Given the description of an element on the screen output the (x, y) to click on. 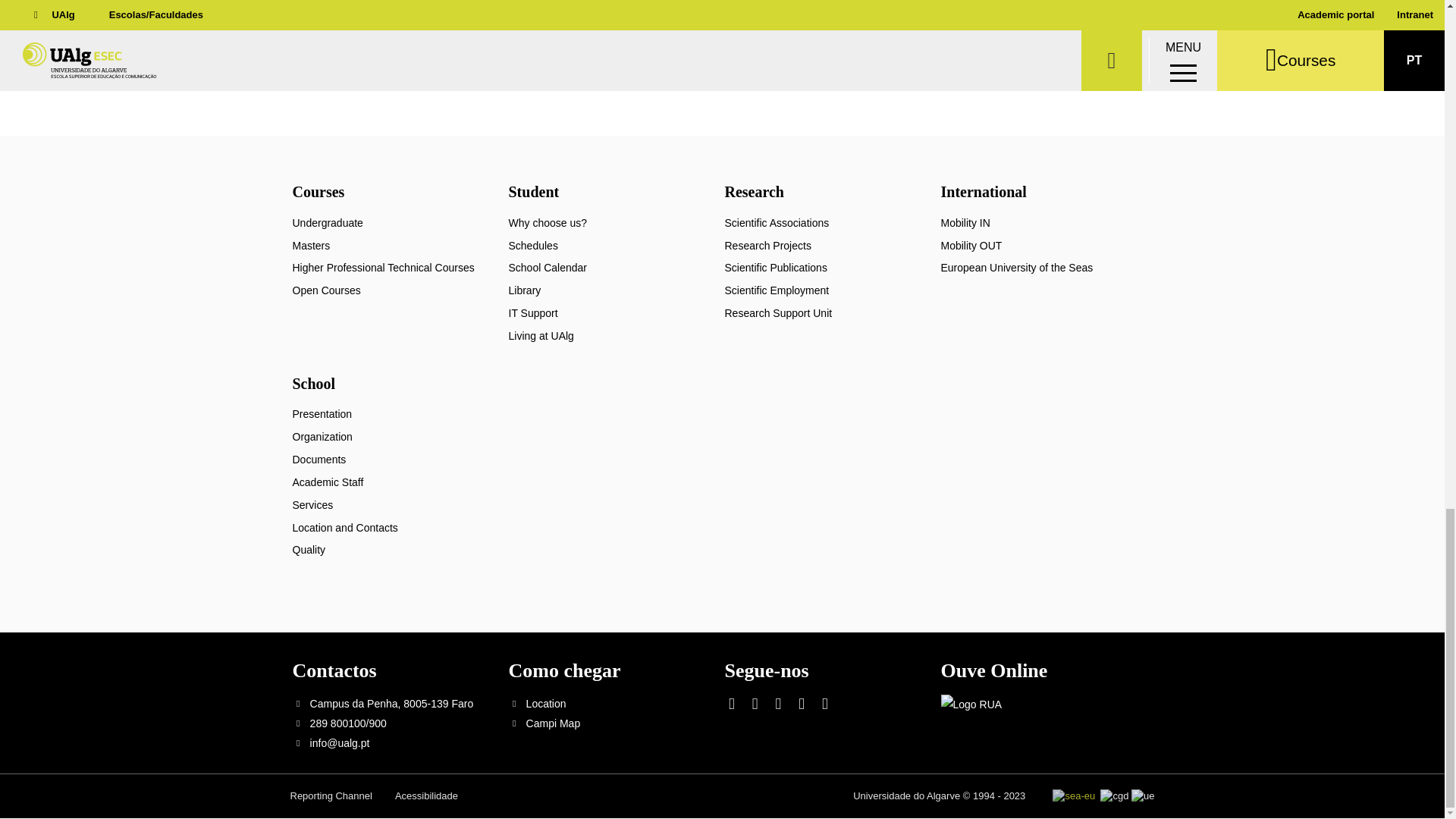
Mapa dos Campi (552, 723)
